Given the description of an element on the screen output the (x, y) to click on. 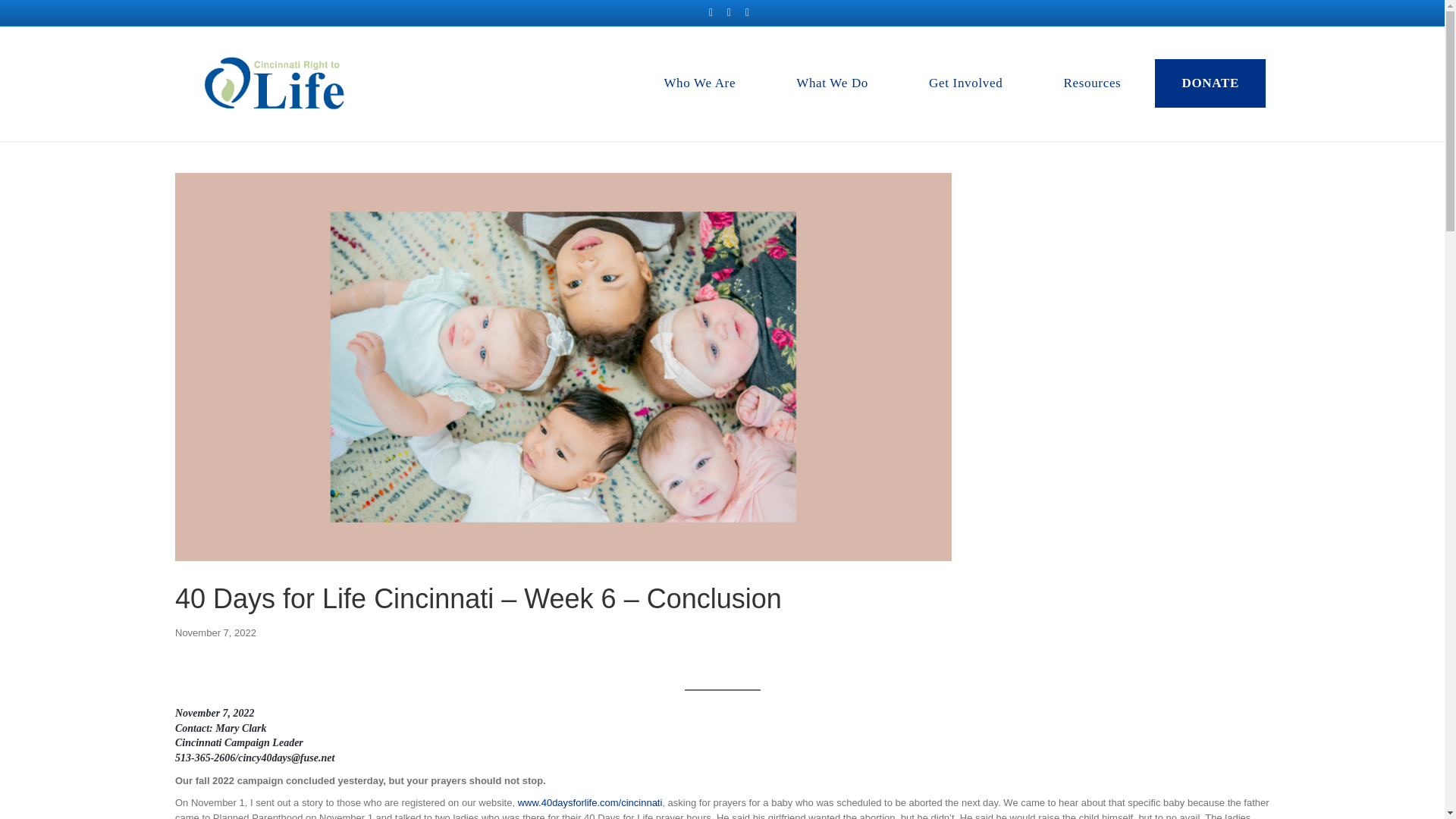
Resources (1091, 82)
Facebook (710, 11)
Get Involved (965, 82)
What We Do (832, 82)
Youtube (729, 11)
Who We Are (699, 82)
Instagram (747, 11)
